Given the description of an element on the screen output the (x, y) to click on. 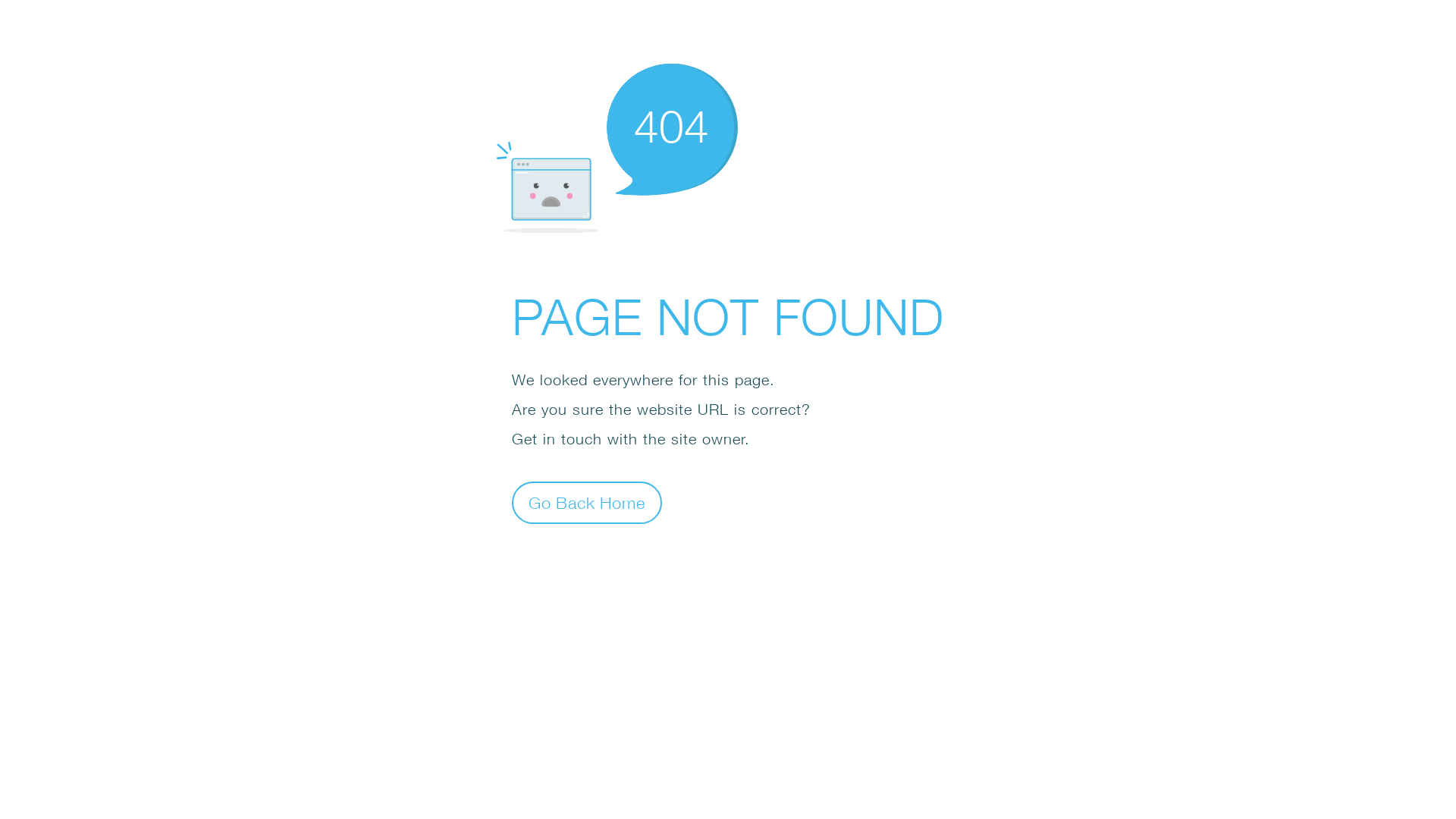
Go Back Home Element type: text (586, 502)
